Given the description of an element on the screen output the (x, y) to click on. 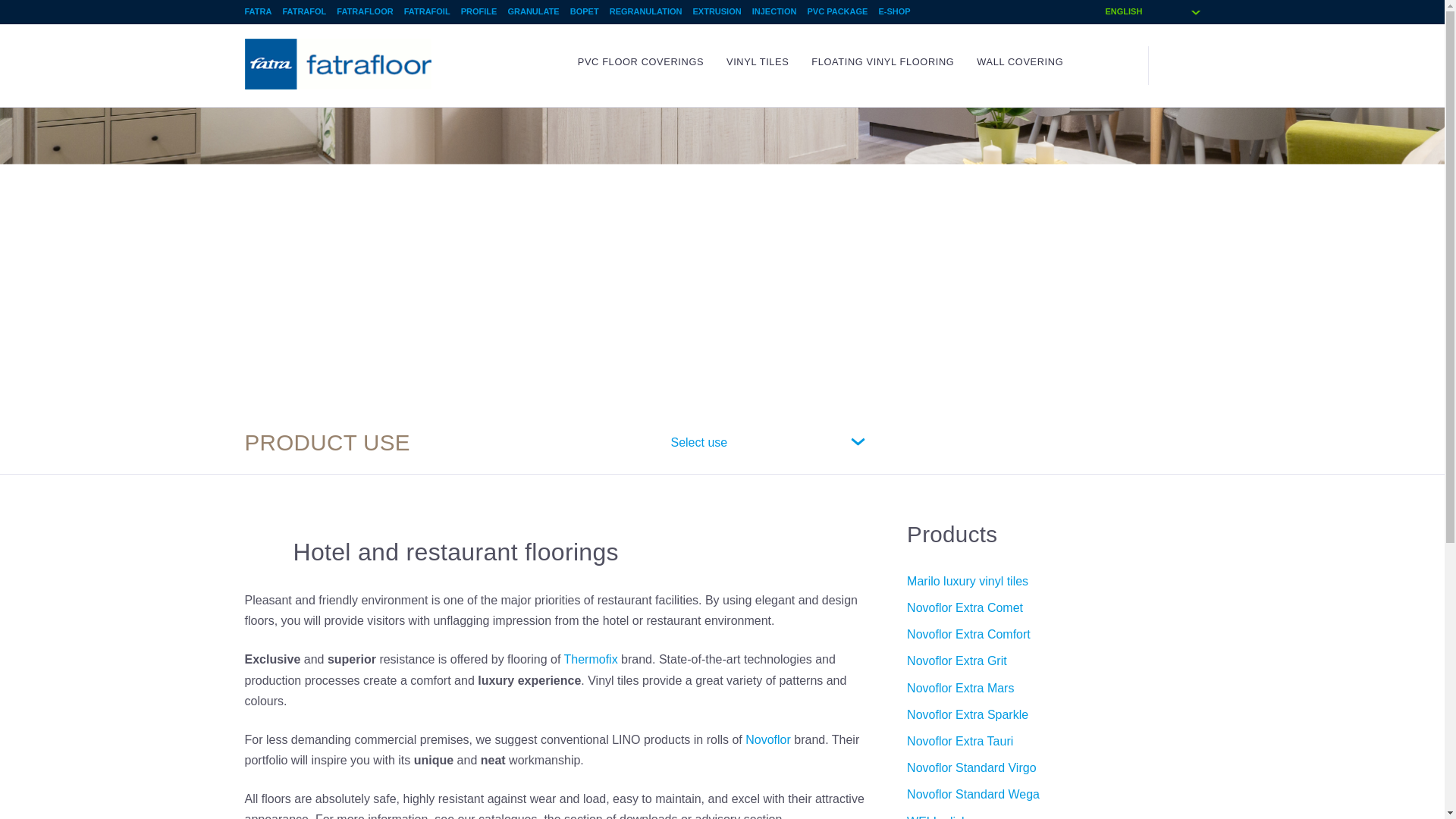
FLOATING VINYL FLOORING (881, 61)
REGRANULATION (646, 10)
FATRAFLOOR (364, 10)
BOPET (584, 10)
WALL COVERING (1019, 61)
FATRA (257, 10)
FATRAFOIL (426, 10)
E-SHOP (893, 10)
VINYL TILES (757, 61)
PVC FLOOR COVERINGS (640, 61)
